Given the description of an element on the screen output the (x, y) to click on. 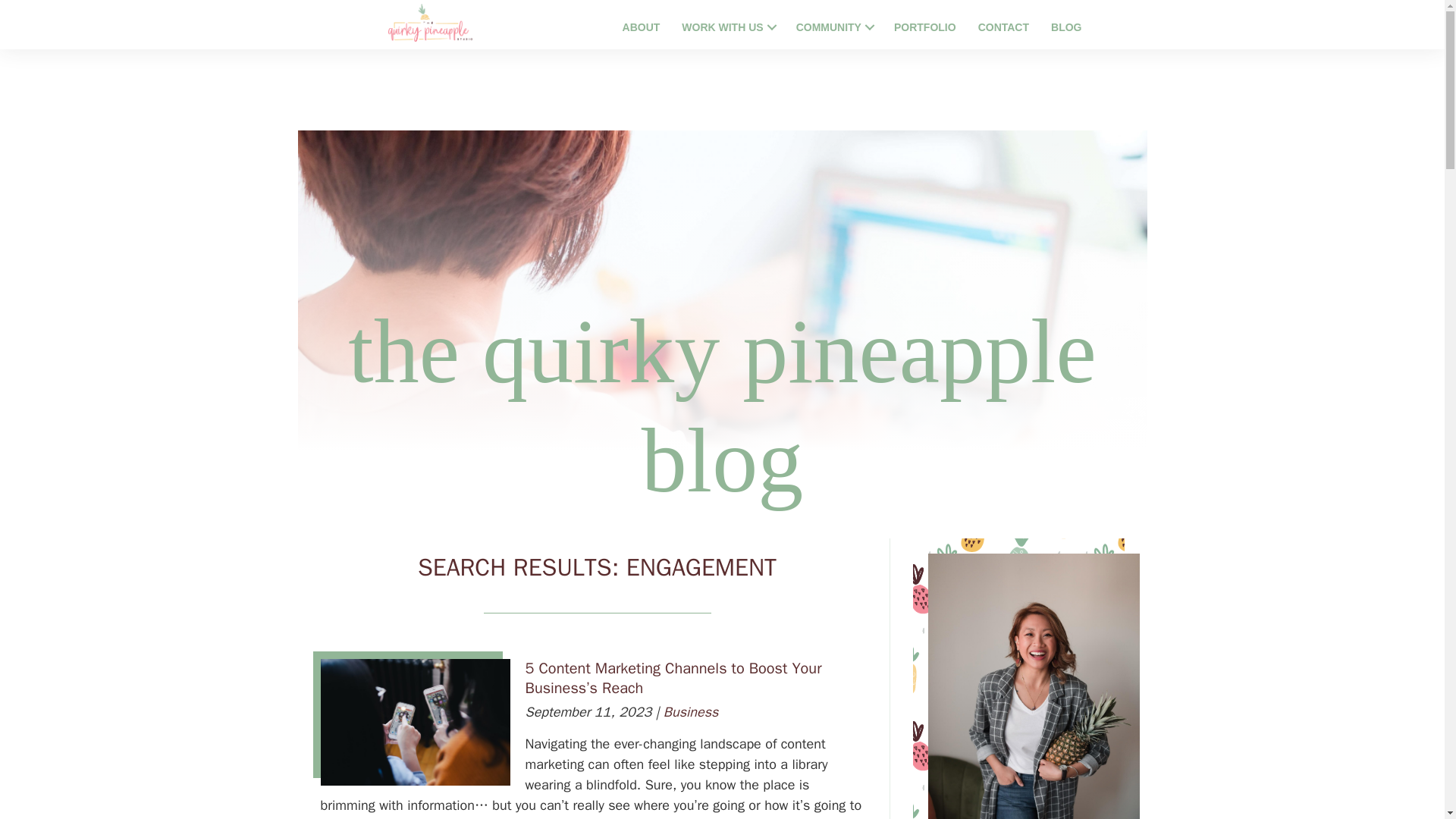
ABOUT (636, 27)
Business (691, 711)
BLOG (1061, 27)
The Quirky Pineapple Studio (429, 22)
CONTACT (998, 27)
WORK WITH US (722, 27)
PORTFOLIO (920, 27)
COMMUNITY (828, 27)
